Given the description of an element on the screen output the (x, y) to click on. 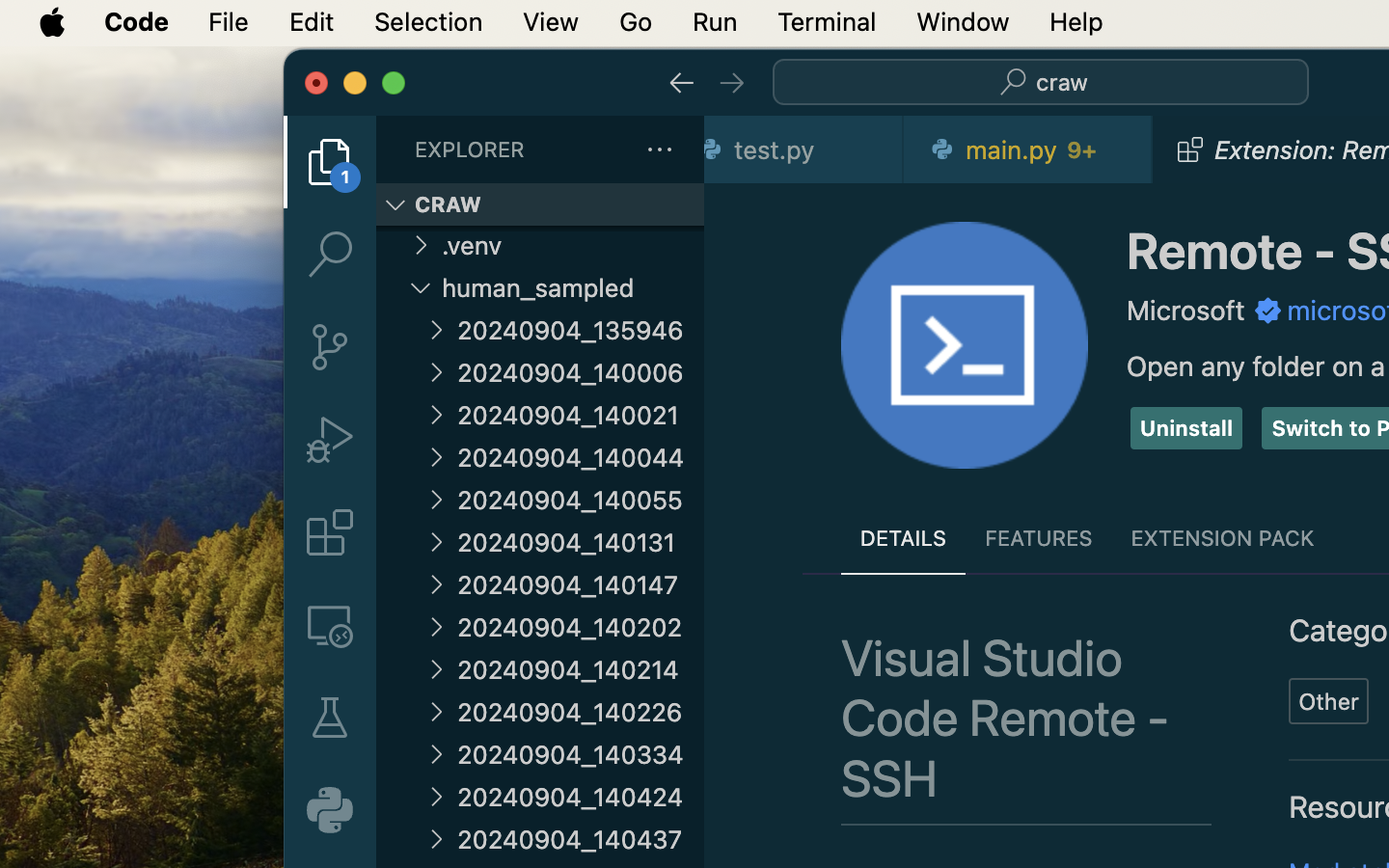
0 Element type: AXRadioButton (329, 809)
0  Element type: AXRadioButton (329, 624)
Other Element type: AXGroup (1328, 701)
20240904_140021 Element type: AXGroup (580, 414)
 Element type: AXButton (731, 82)
